Given the description of an element on the screen output the (x, y) to click on. 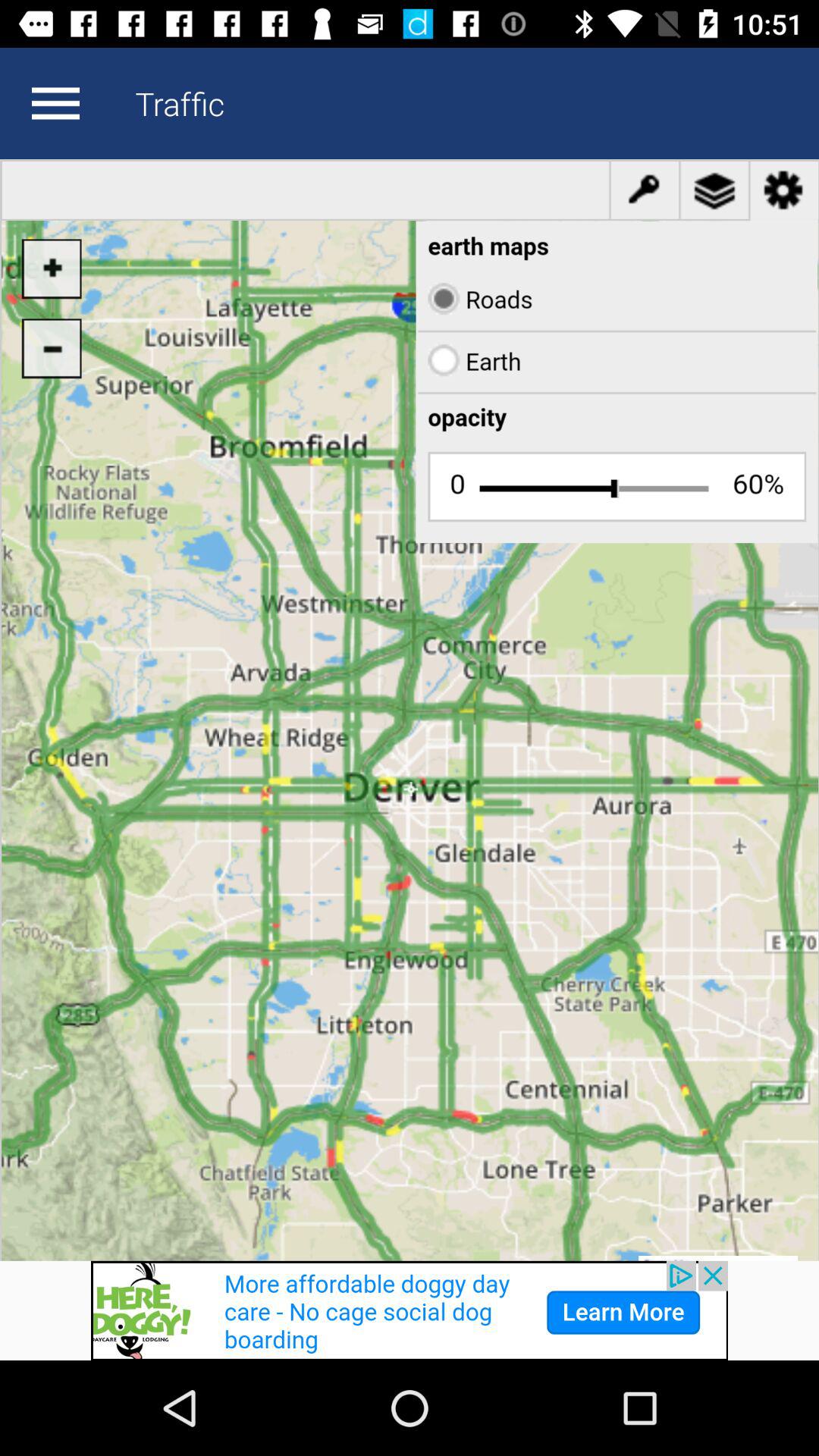
advertisement (409, 1310)
